Given the description of an element on the screen output the (x, y) to click on. 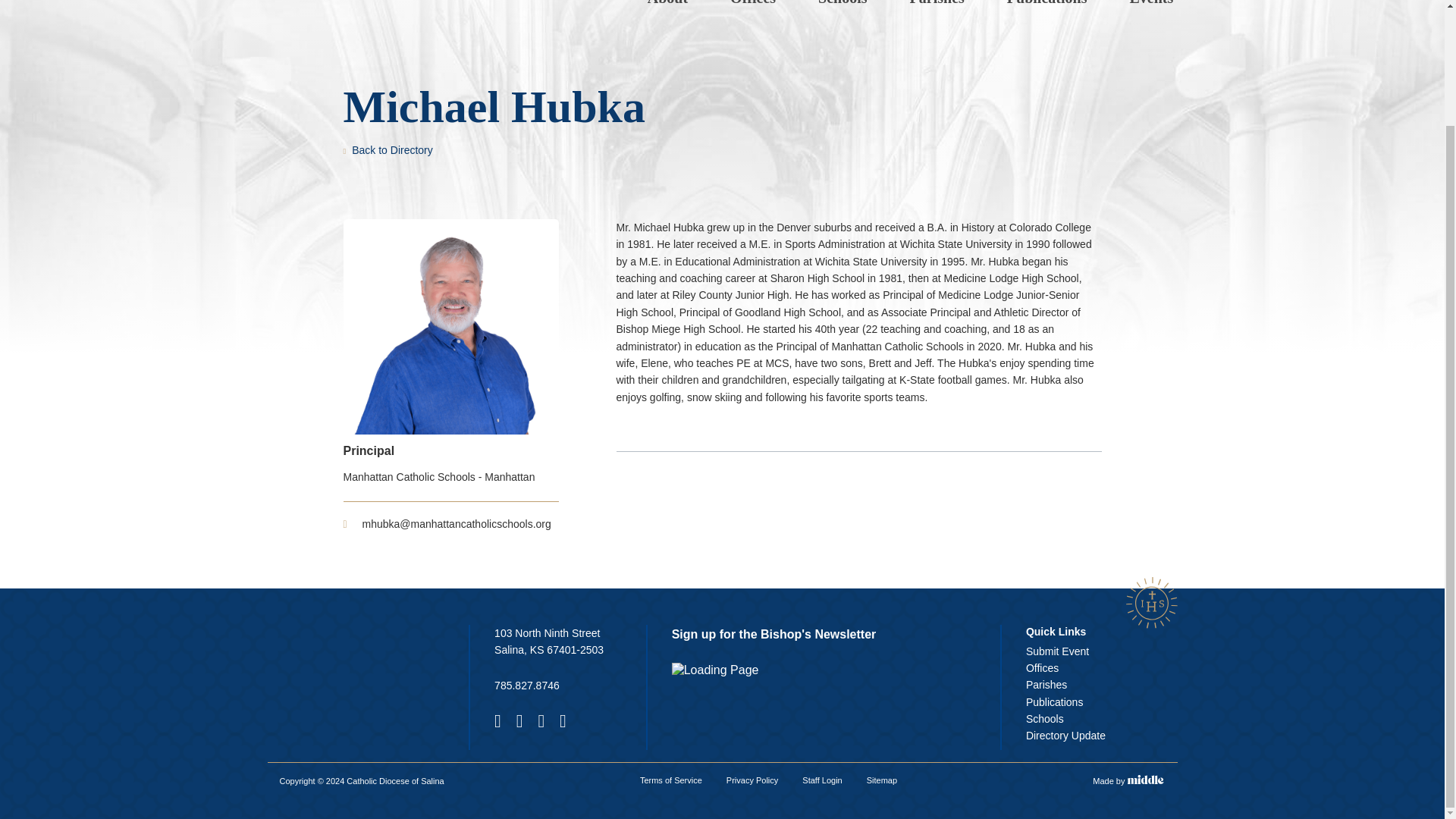
About (667, 3)
Offices (752, 3)
Group 53 Copy Created with Sketch. (1150, 602)
